Given the description of an element on the screen output the (x, y) to click on. 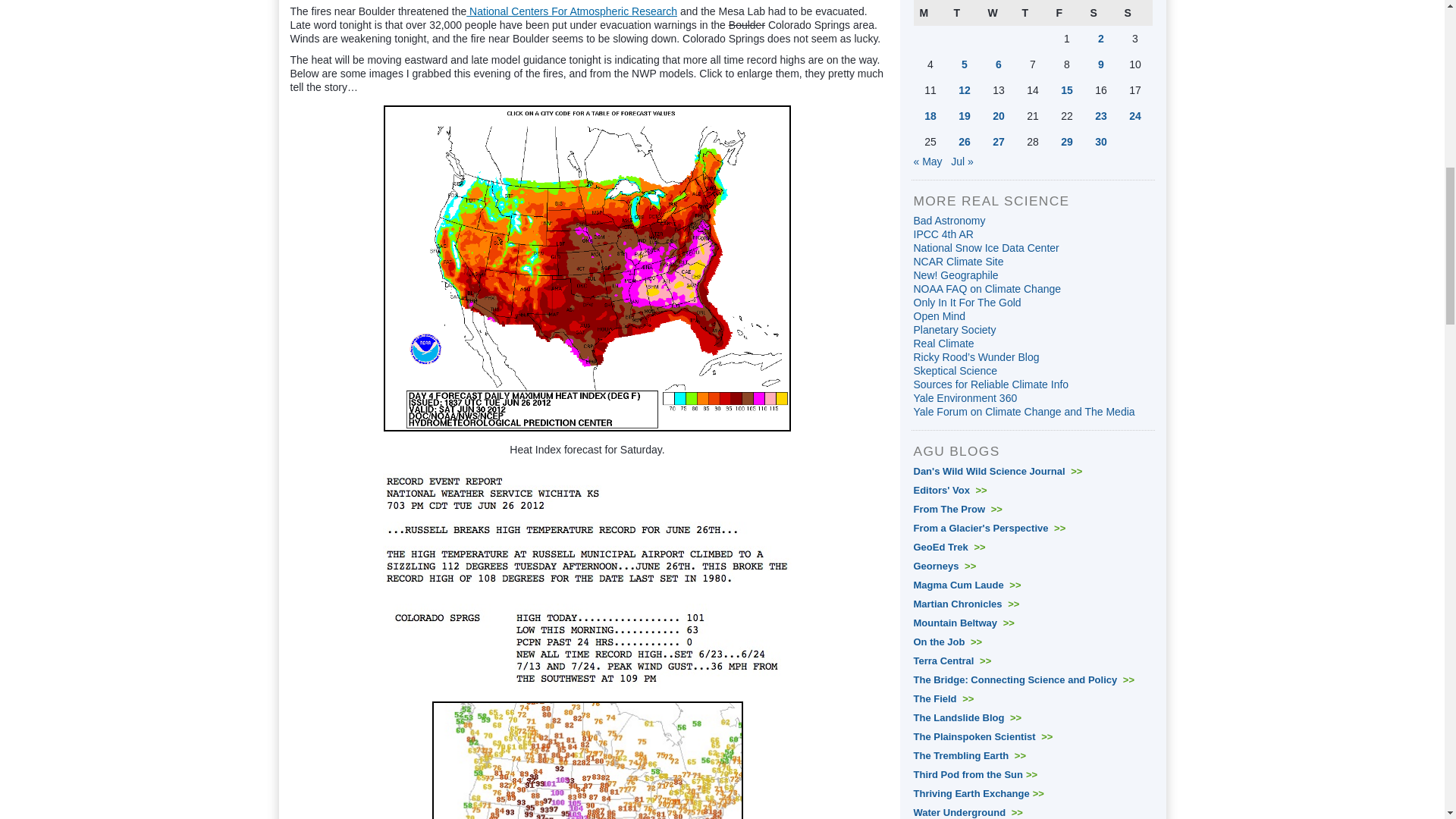
Thursday (1032, 12)
Friday (1066, 12)
Saturday (1101, 12)
Tuesday (964, 12)
Monday (929, 12)
Sunday (1134, 12)
Screen Shot 2012-06-27 at 01.13.09 (587, 534)
National Centers For Atmospheric Research (571, 10)
Wednesday (997, 12)
Screen Shot 2012-06-27 at 01.09.48 (586, 646)
Screen Shot 2012-06-27 at 01.51.26 (587, 760)
